Given the description of an element on the screen output the (x, y) to click on. 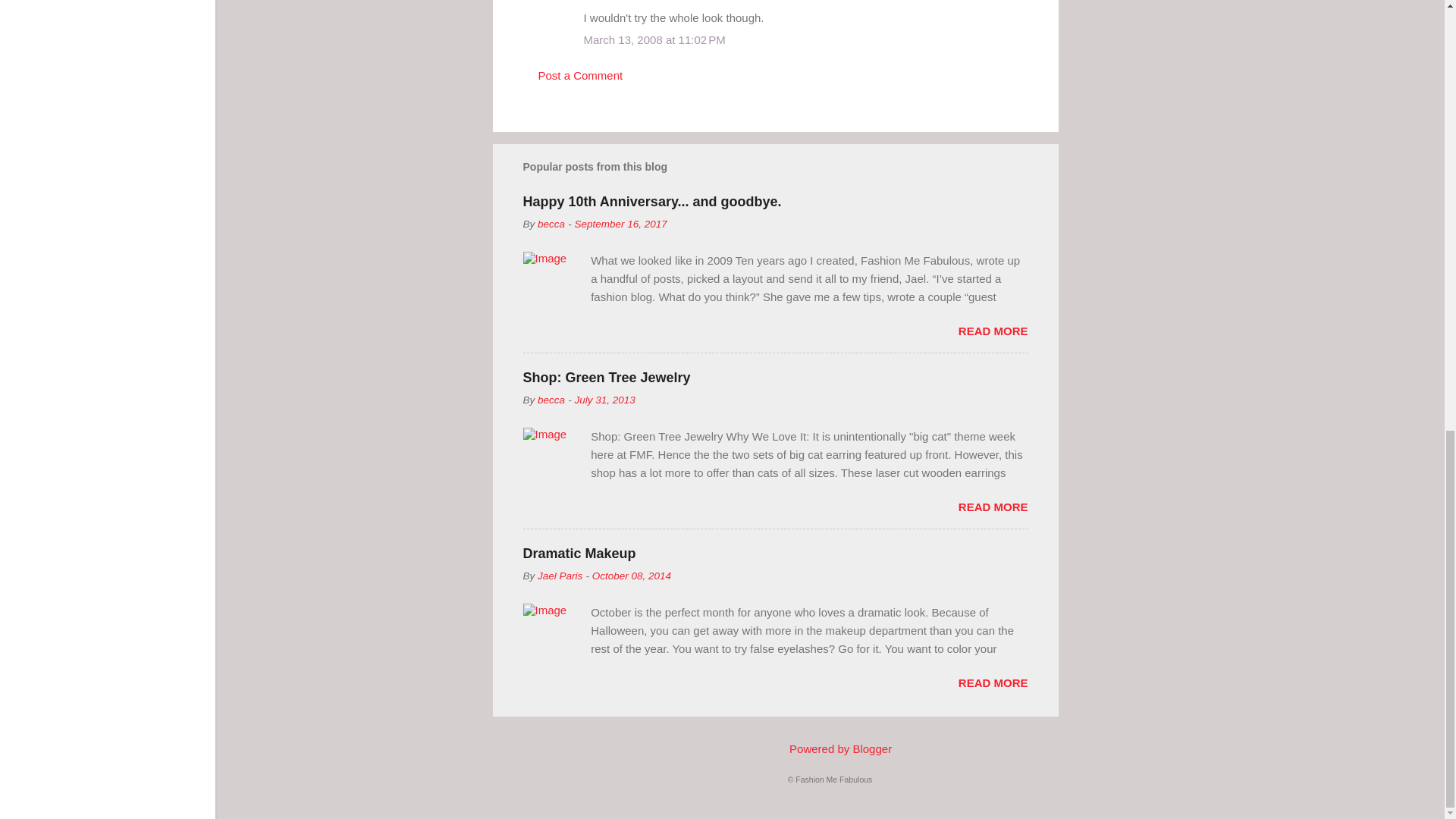
Advertisement (1118, 43)
October 08, 2014 (631, 575)
READ MORE (992, 330)
September 16, 2017 (619, 224)
Jael Paris (559, 575)
Dramatic Makeup (579, 553)
Happy 10th Anniversary... and goodbye. (651, 201)
READ MORE (992, 506)
READ MORE (992, 682)
becca (550, 224)
Post a Comment (580, 74)
Shop: Green Tree Jewelry (606, 377)
becca (550, 399)
July 31, 2013 (603, 399)
